Given the description of an element on the screen output the (x, y) to click on. 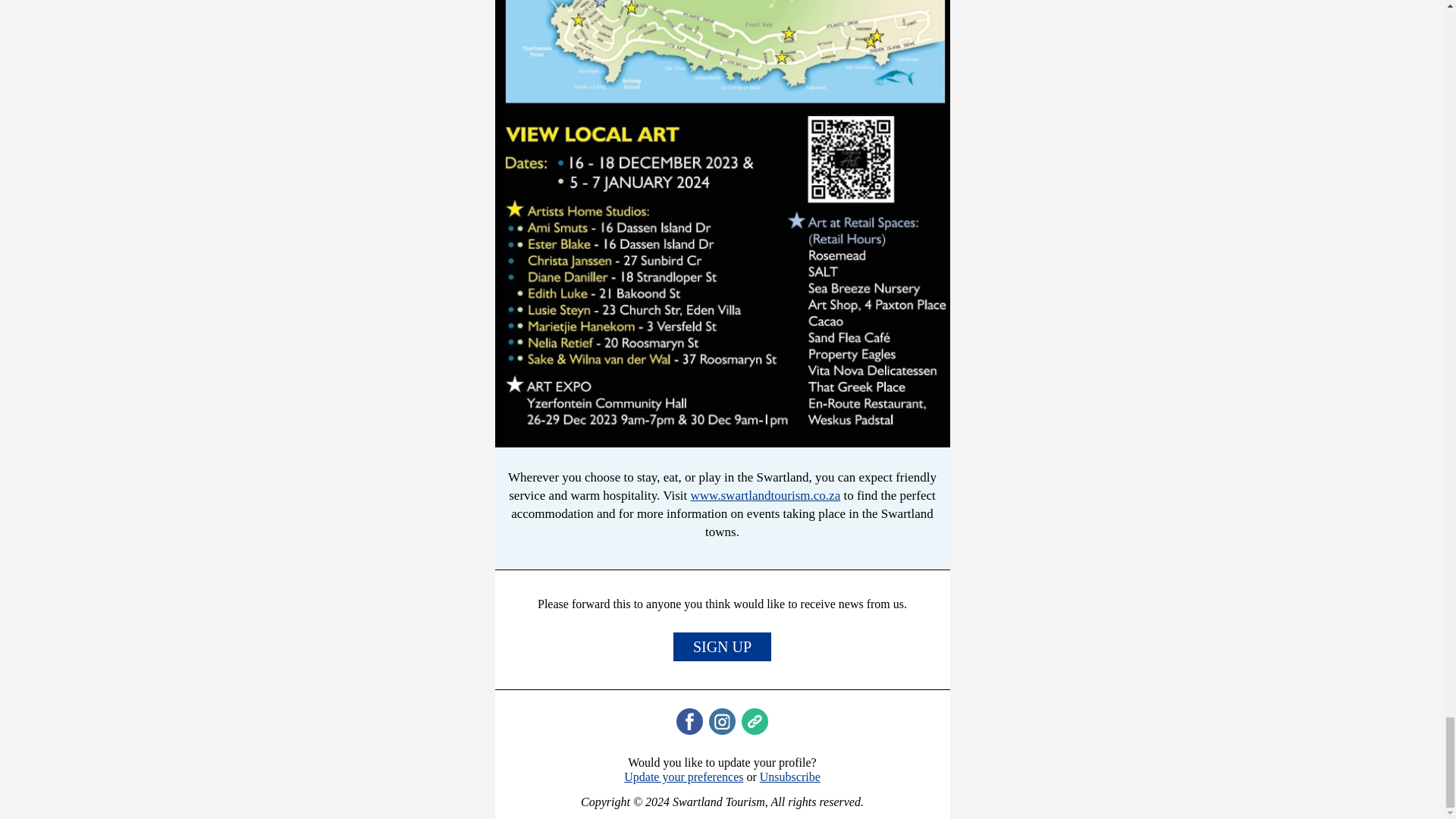
Unsubscribe (790, 776)
www.swartlandtourism.co.za (765, 495)
SIGN UP (721, 646)
Update your preferences (683, 776)
